Given the description of an element on the screen output the (x, y) to click on. 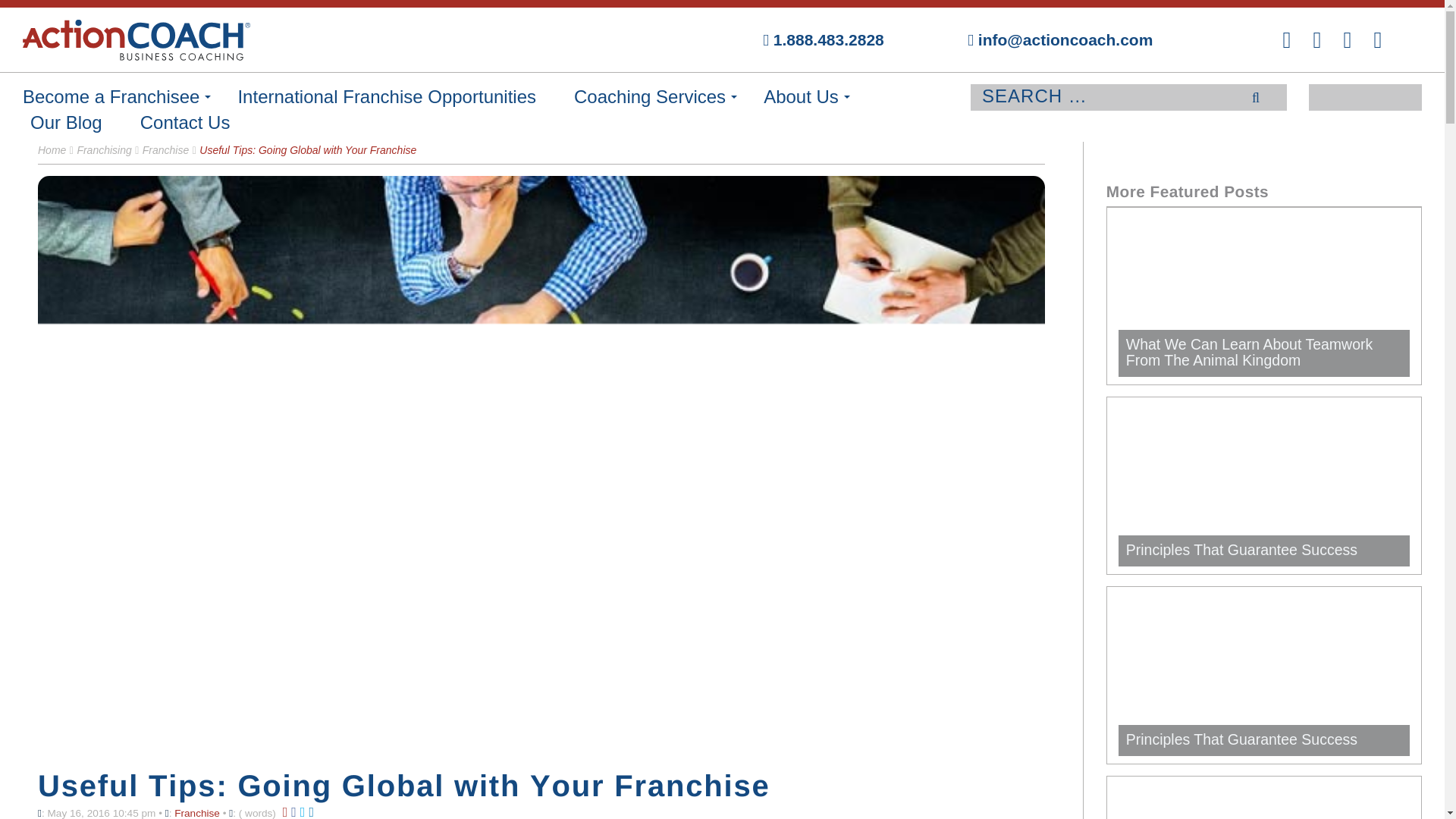
Franchise (165, 150)
Contact Us (185, 122)
Become a Franchisee (111, 96)
Franchise (196, 813)
Franchising (104, 150)
ActionCOACH Services. (649, 96)
ActionCOACH (189, 39)
Email ActionCOACH (1018, 39)
Twitter (1347, 39)
International Franchise Opportunities (386, 96)
